Given the description of an element on the screen output the (x, y) to click on. 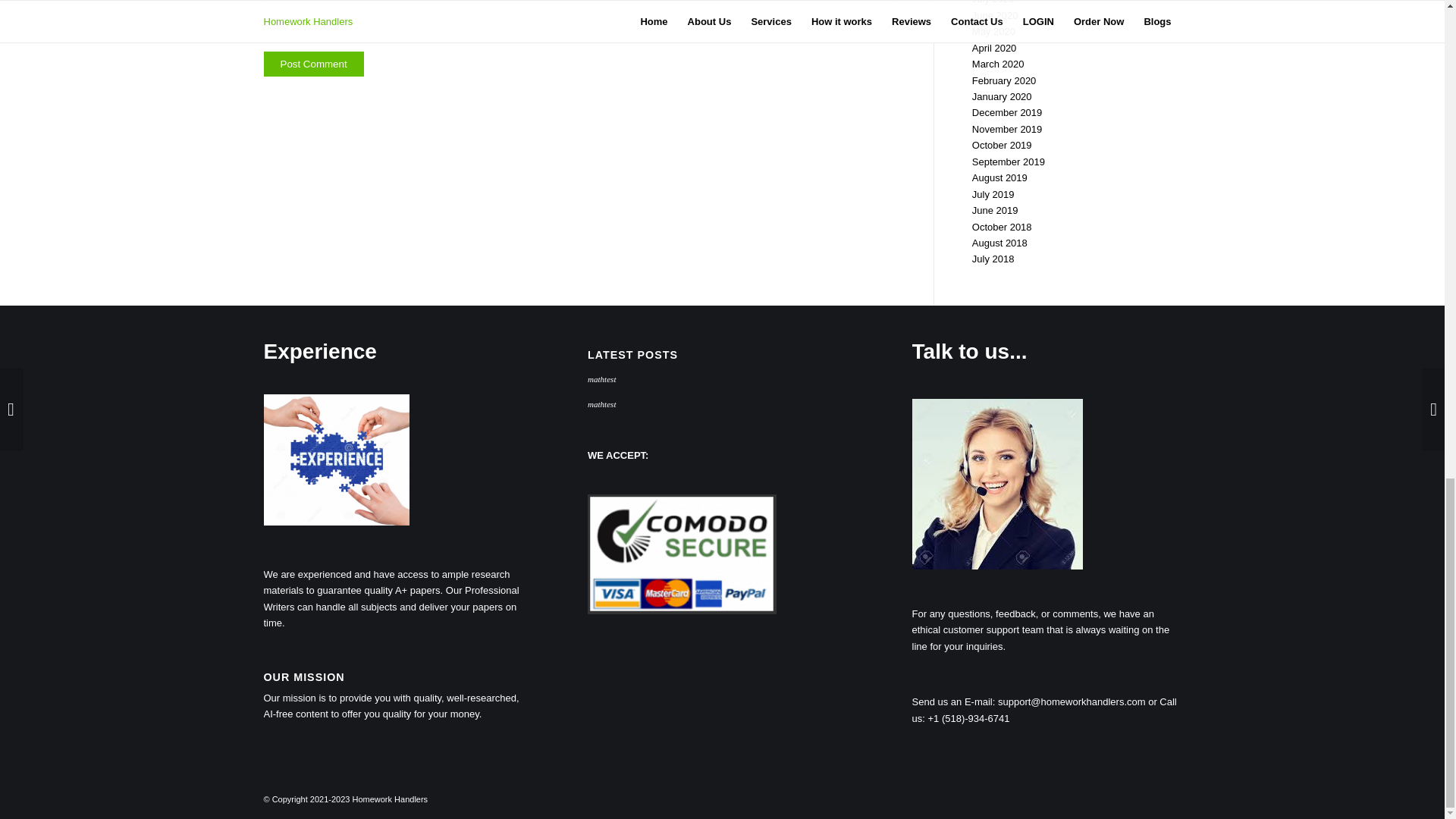
Post Comment (313, 63)
Post Comment (313, 63)
